Given the description of an element on the screen output the (x, y) to click on. 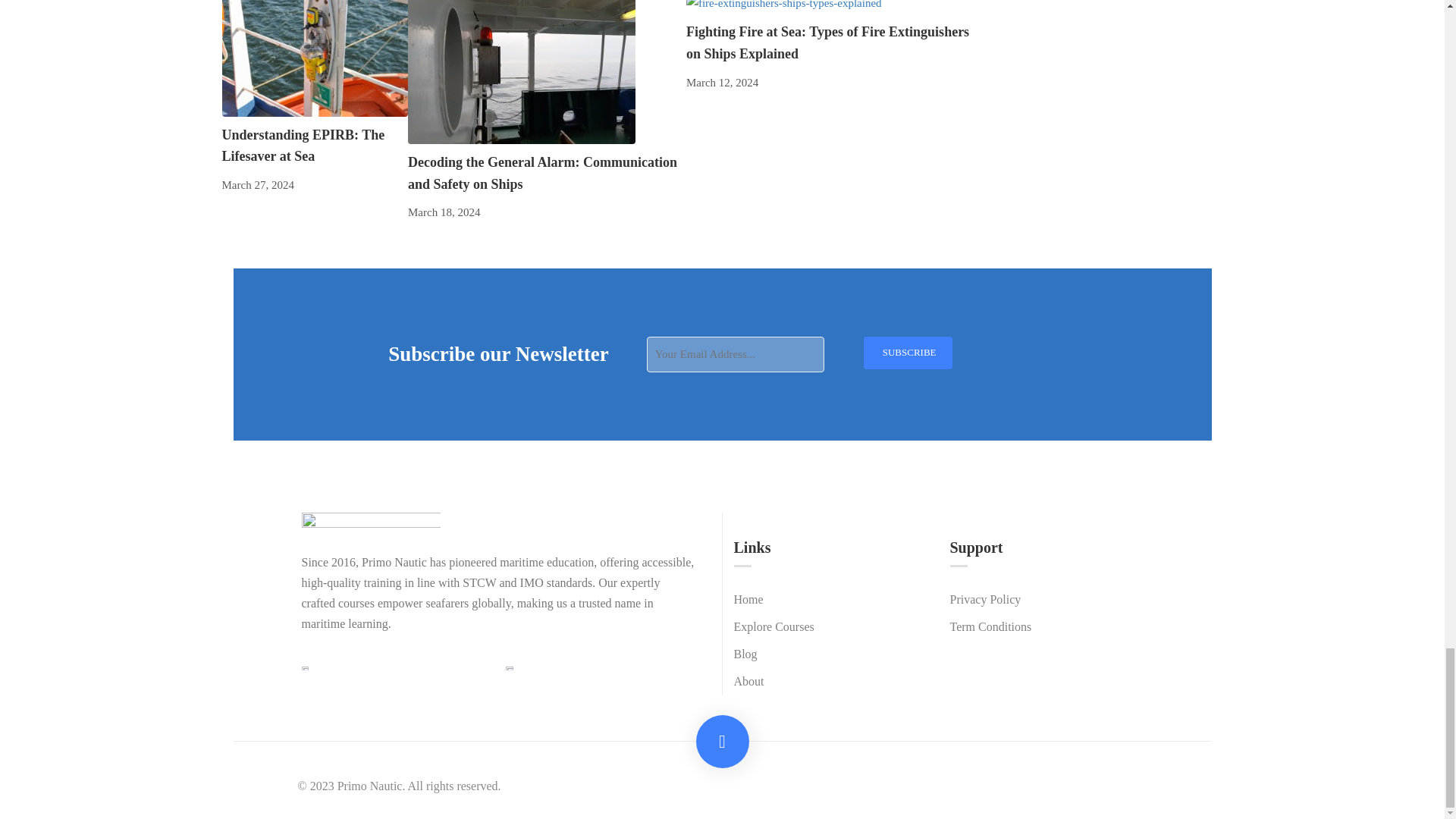
general-alarm-ships-safety-communication (520, 72)
Subscribe (907, 352)
About (748, 680)
understanding-epirb (314, 58)
fire-extinguishers-ships-types-explained (783, 6)
Home (747, 599)
Understanding EPIRB: The Lifesaver at Sea (302, 145)
Privacy Policy (984, 599)
Blog (745, 653)
Understanding EPIRB: The Lifesaver at Sea (314, 52)
Explore Courses (773, 626)
